Given the description of an element on the screen output the (x, y) to click on. 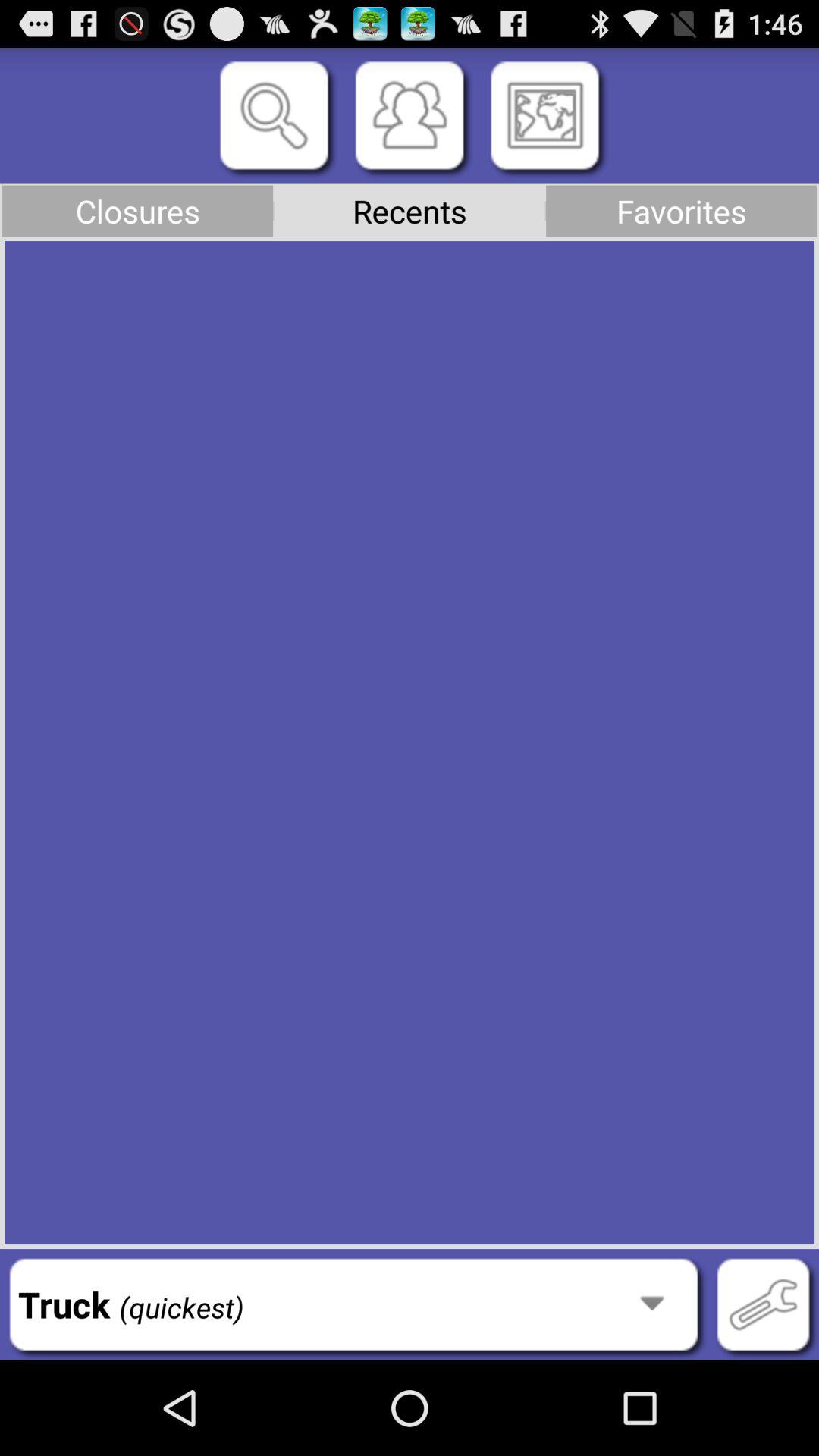
turn on icon above the recents item (409, 115)
